Given the description of an element on the screen output the (x, y) to click on. 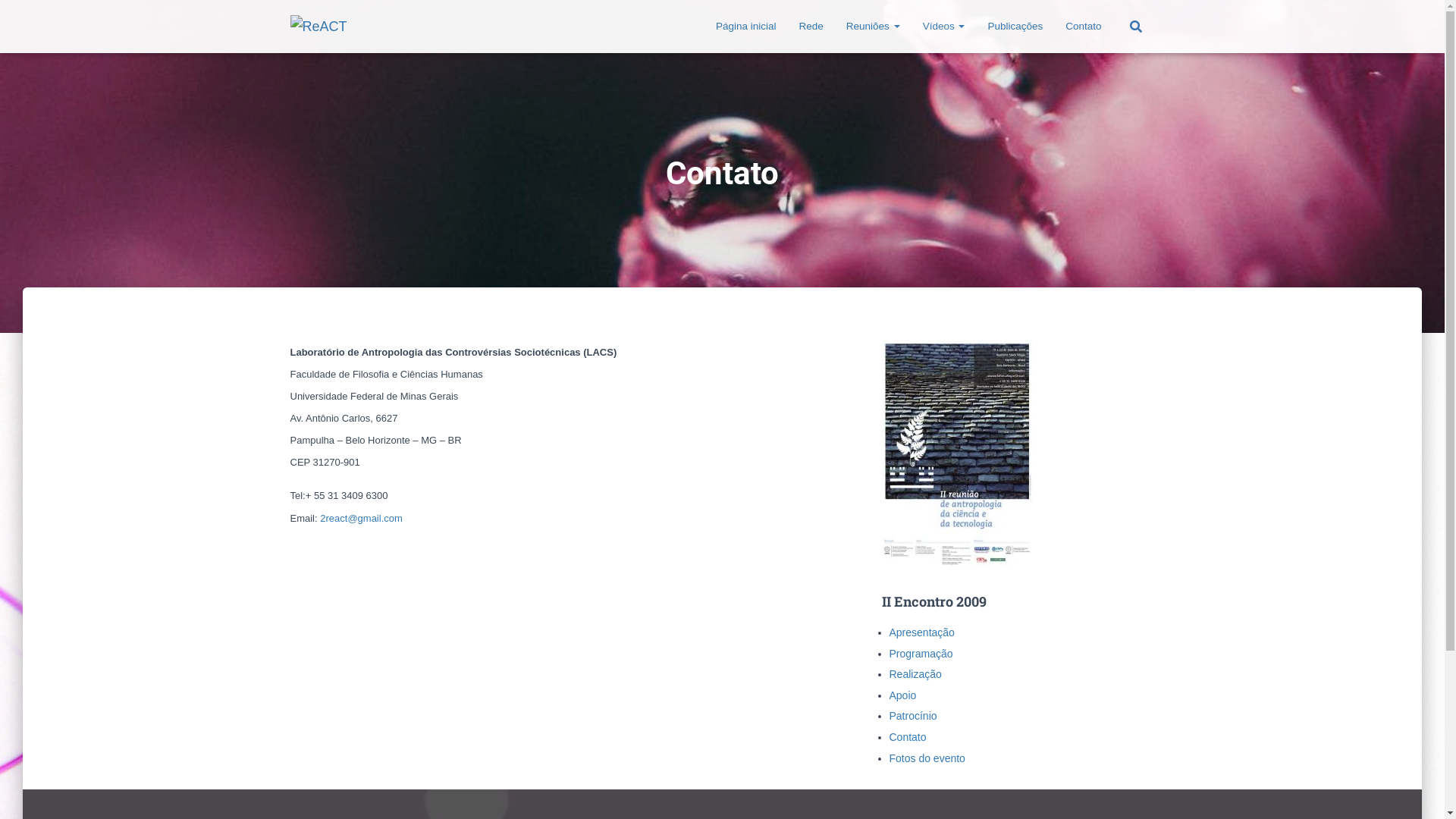
Contato Element type: text (906, 737)
Fotos do evento Element type: text (926, 758)
Apoio Element type: text (902, 695)
Pesquisar Element type: text (17, 16)
Contato Element type: text (1083, 26)
ReACT Element type: hover (318, 26)
Rede Element type: text (810, 26)
2react@gmail.com Element type: text (361, 518)
